Given the description of an element on the screen output the (x, y) to click on. 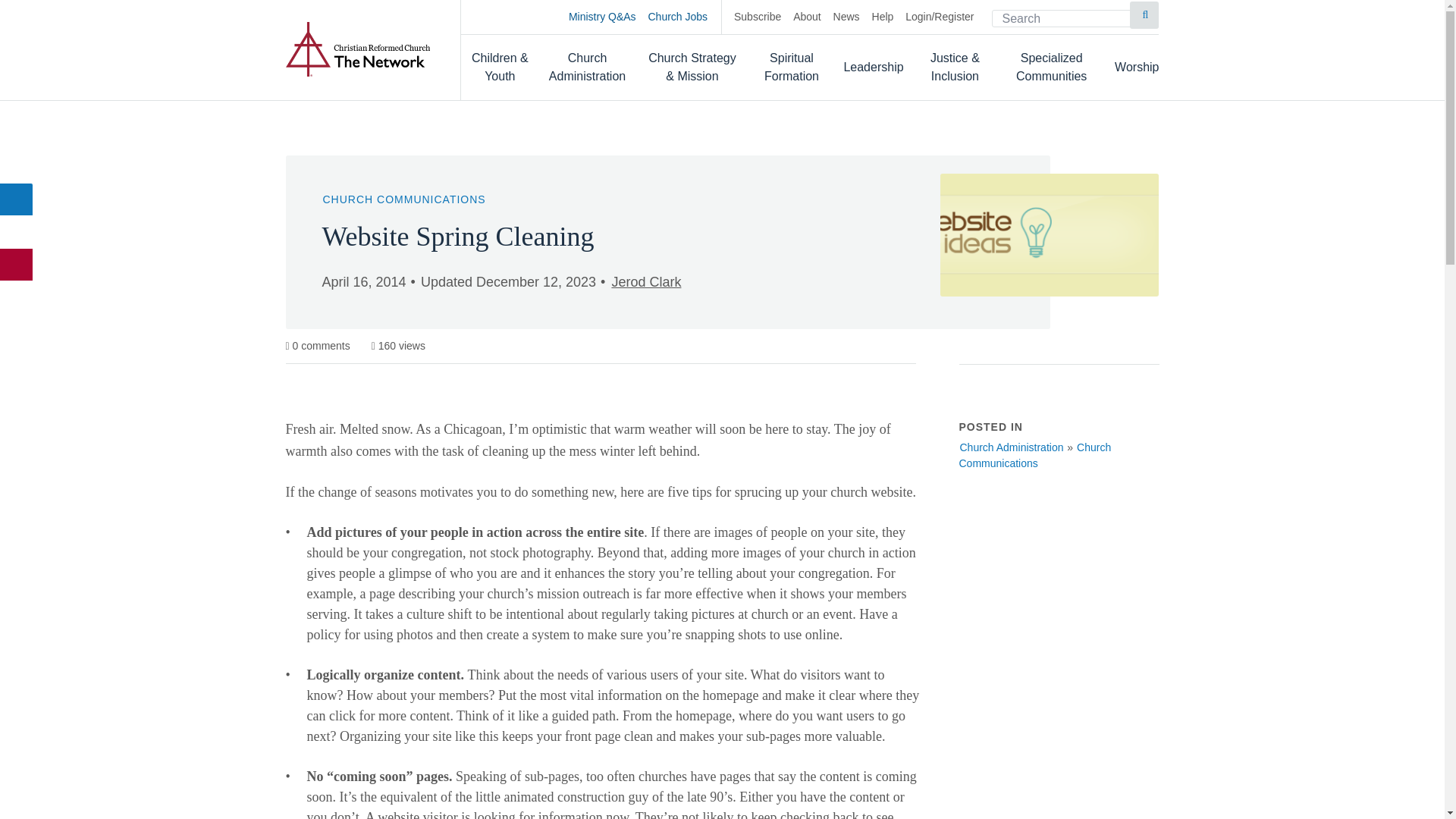
Submit (1143, 14)
Share to Facebook (16, 199)
Subscribe (756, 17)
Submit (1143, 14)
Leadership (872, 67)
Home (357, 49)
Share to X (16, 231)
View user profile. (645, 281)
Church Administration (587, 67)
Church Communications (1034, 455)
Church Administration (1011, 447)
Share to Email (16, 264)
CHURCH COMMUNICATIONS (403, 199)
Church Jobs (684, 17)
